Given the description of an element on the screen output the (x, y) to click on. 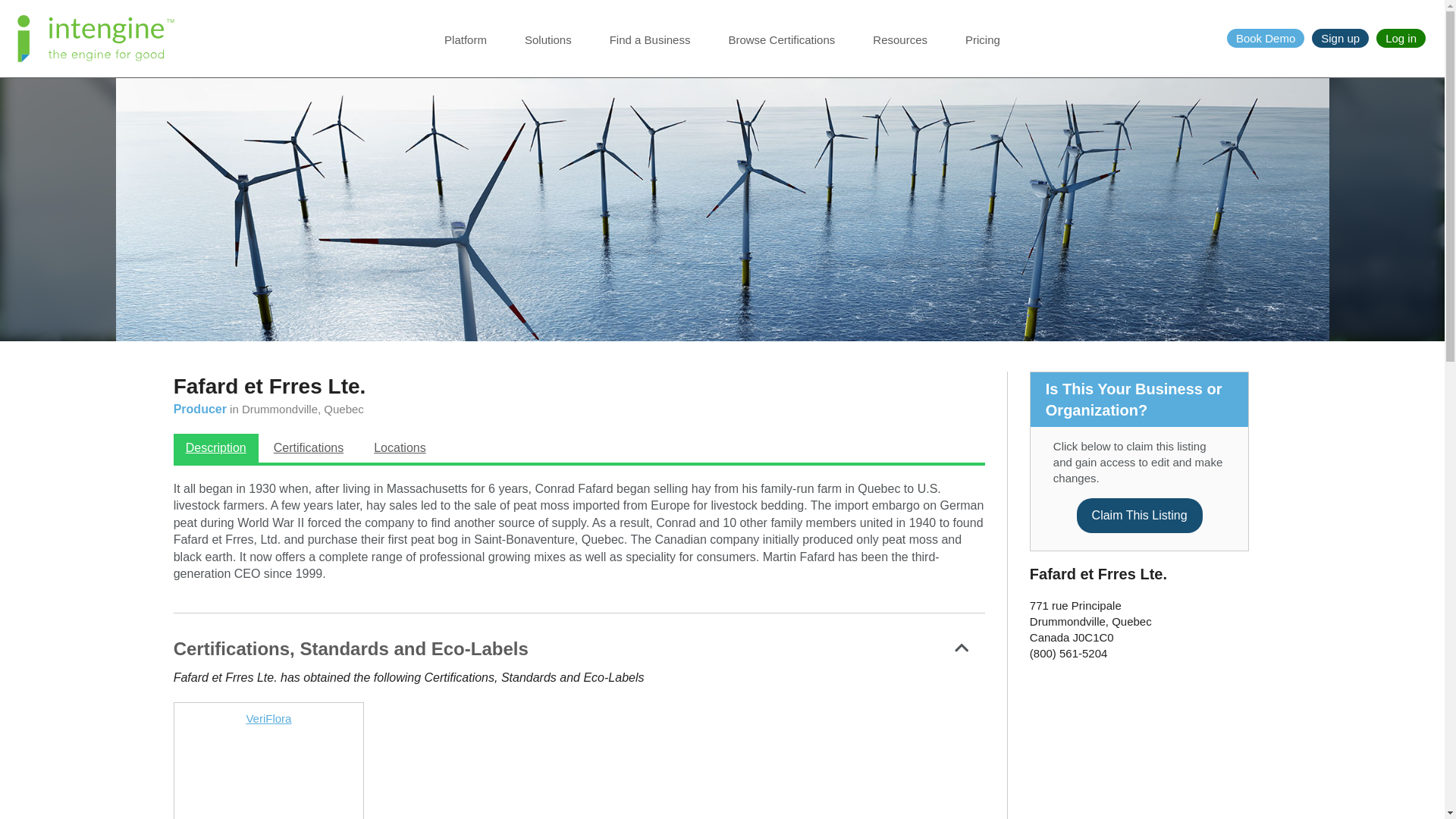
Solutions (548, 49)
VeriFlora (268, 717)
Platform (465, 49)
Find a Business (650, 49)
